Given the description of an element on the screen output the (x, y) to click on. 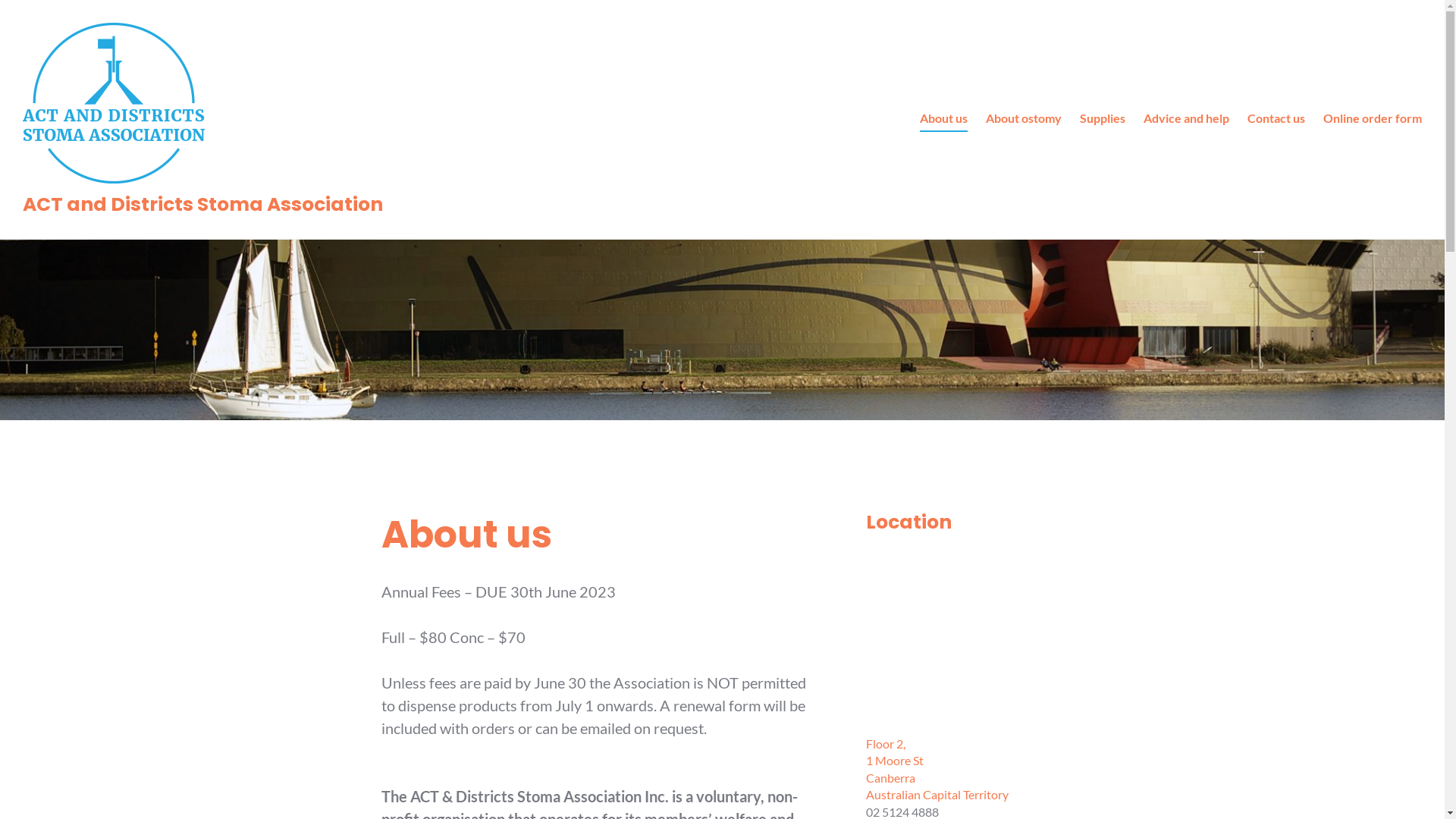
About us Element type: text (943, 118)
Online order form Element type: text (1372, 118)
ACT and Districts Stoma Association Element type: text (202, 204)
Advice and help Element type: text (1186, 118)
About ostomy Element type: text (1023, 118)
Supplies Element type: text (1102, 118)
Floor 2,
1 Moore St
Canberra
Australian Capital Territory Element type: text (937, 769)
Google Map Embed Element type: hover (964, 632)
Contact us Element type: text (1276, 118)
